Given the description of an element on the screen output the (x, y) to click on. 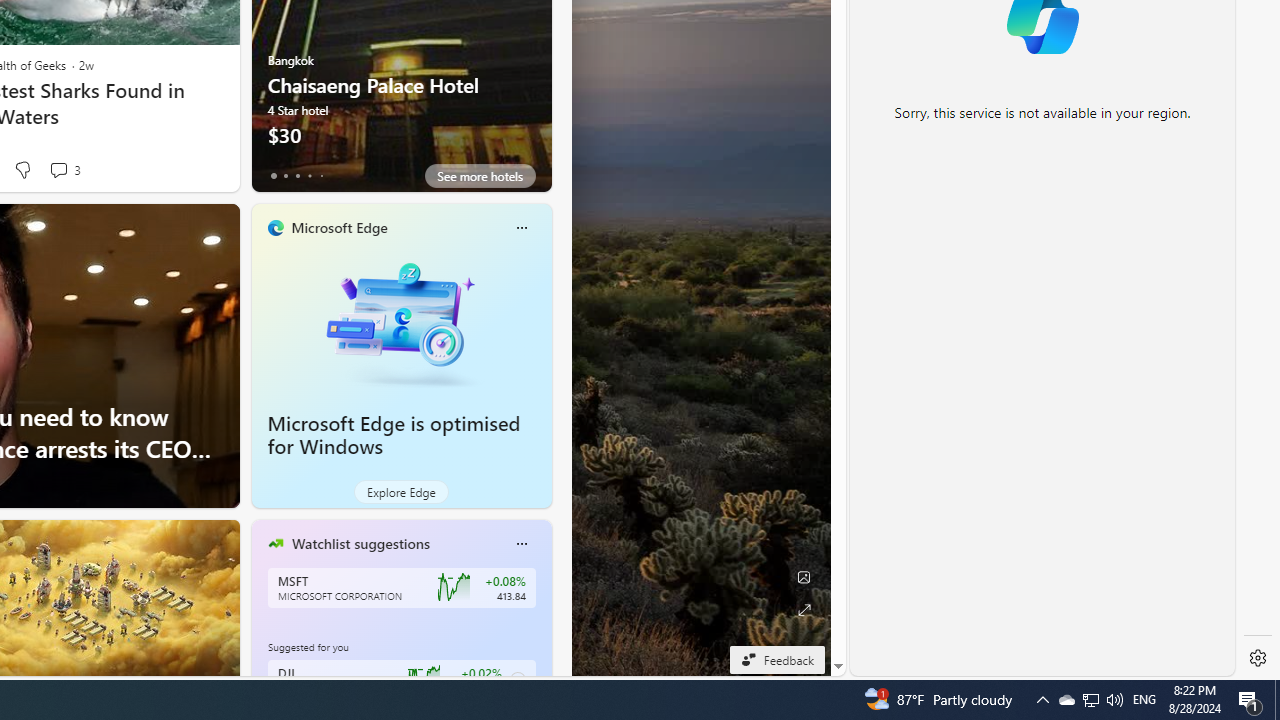
tab-4 (320, 175)
View comments 3 Comment (58, 169)
Class: icon-img (521, 543)
See more hotels (479, 175)
Microsoft Edge is optimised for Windows (401, 321)
Microsoft Edge is optimised for Windows (393, 435)
Feedback (777, 659)
Settings (1258, 658)
tab-2 (297, 175)
